Given the description of an element on the screen output the (x, y) to click on. 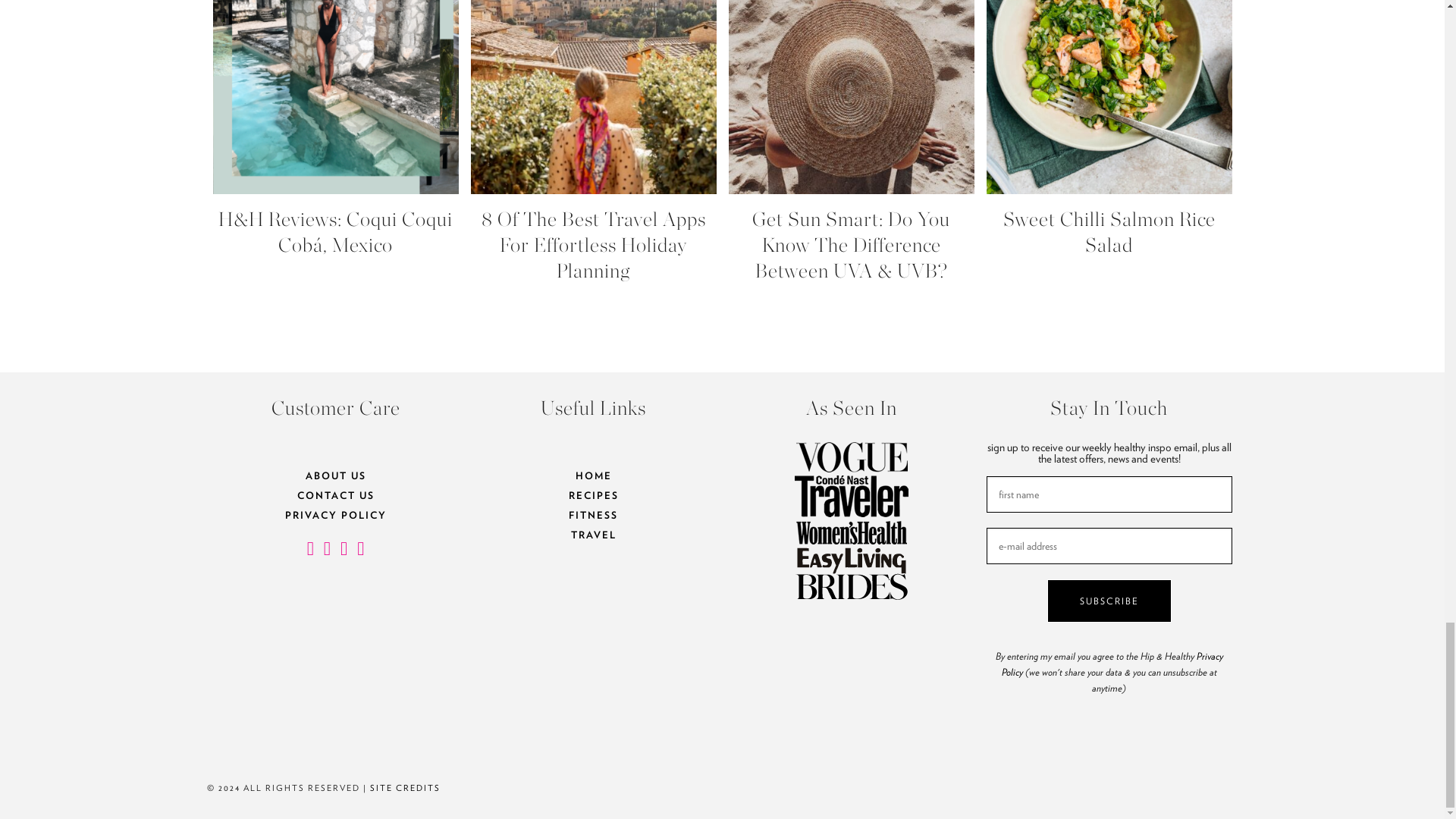
Subscribe (1108, 600)
